Given the description of an element on the screen output the (x, y) to click on. 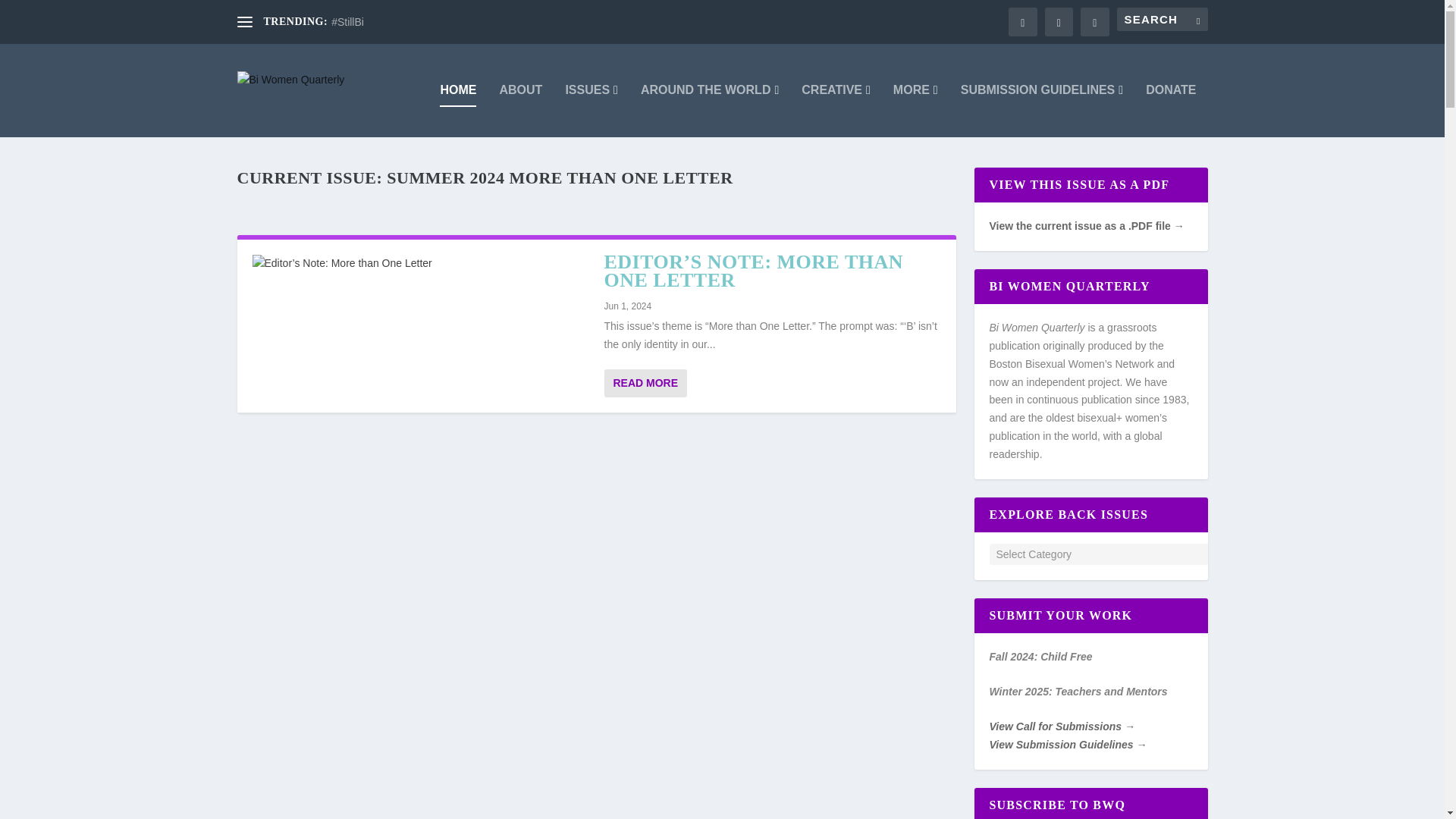
READ MORE (645, 383)
DONATE (1170, 110)
CREATIVE (836, 110)
AROUND THE WORLD (709, 110)
ISSUES (590, 110)
SUBMISSION GUIDELINES (1041, 110)
Search for: (1161, 19)
